Given the description of an element on the screen output the (x, y) to click on. 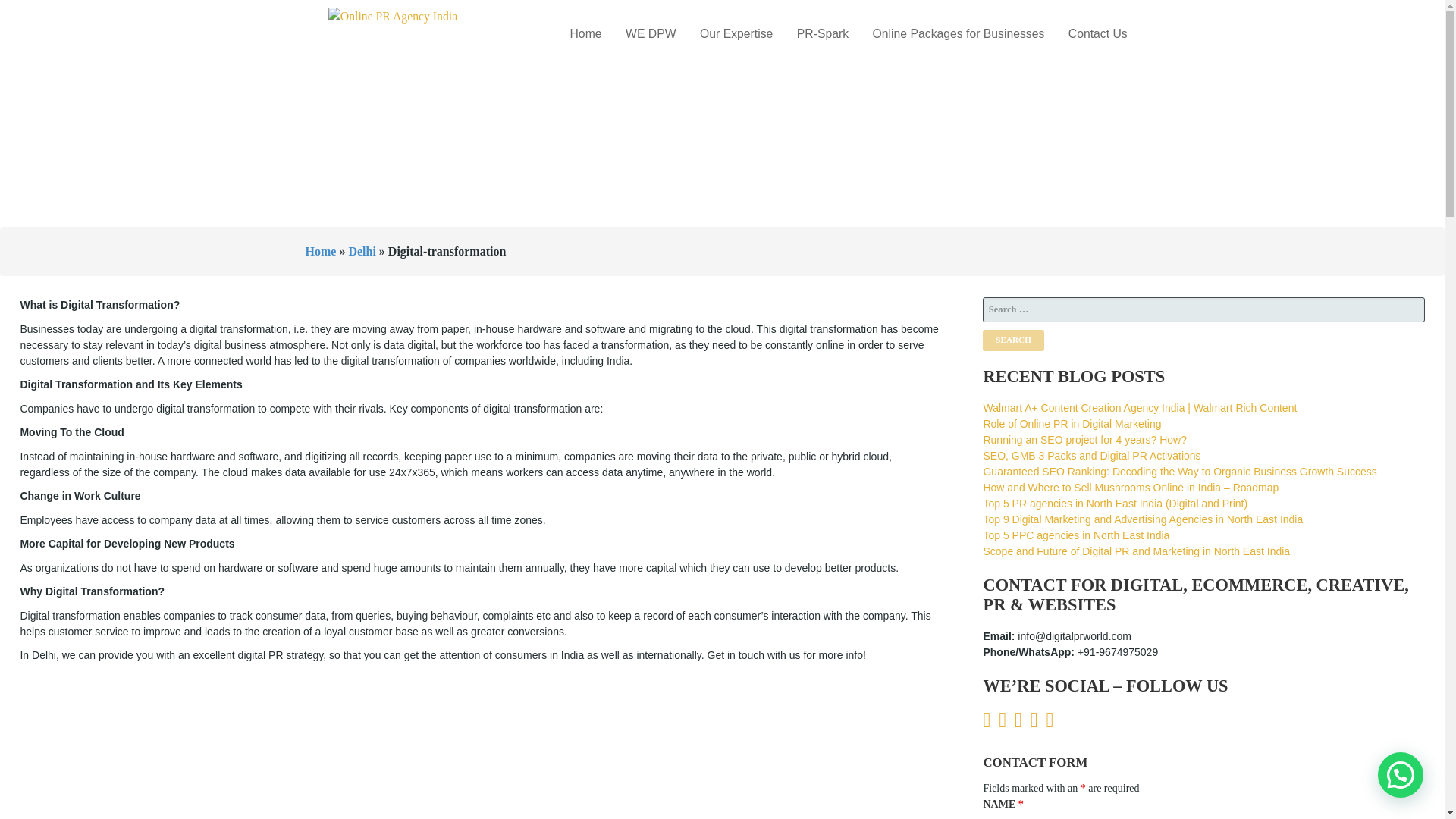
Our Expertise (735, 33)
Search (1012, 340)
ONLINE PR AGENCY INDIA (439, 85)
Search (1012, 340)
WE DPW (649, 33)
